Given the description of an element on the screen output the (x, y) to click on. 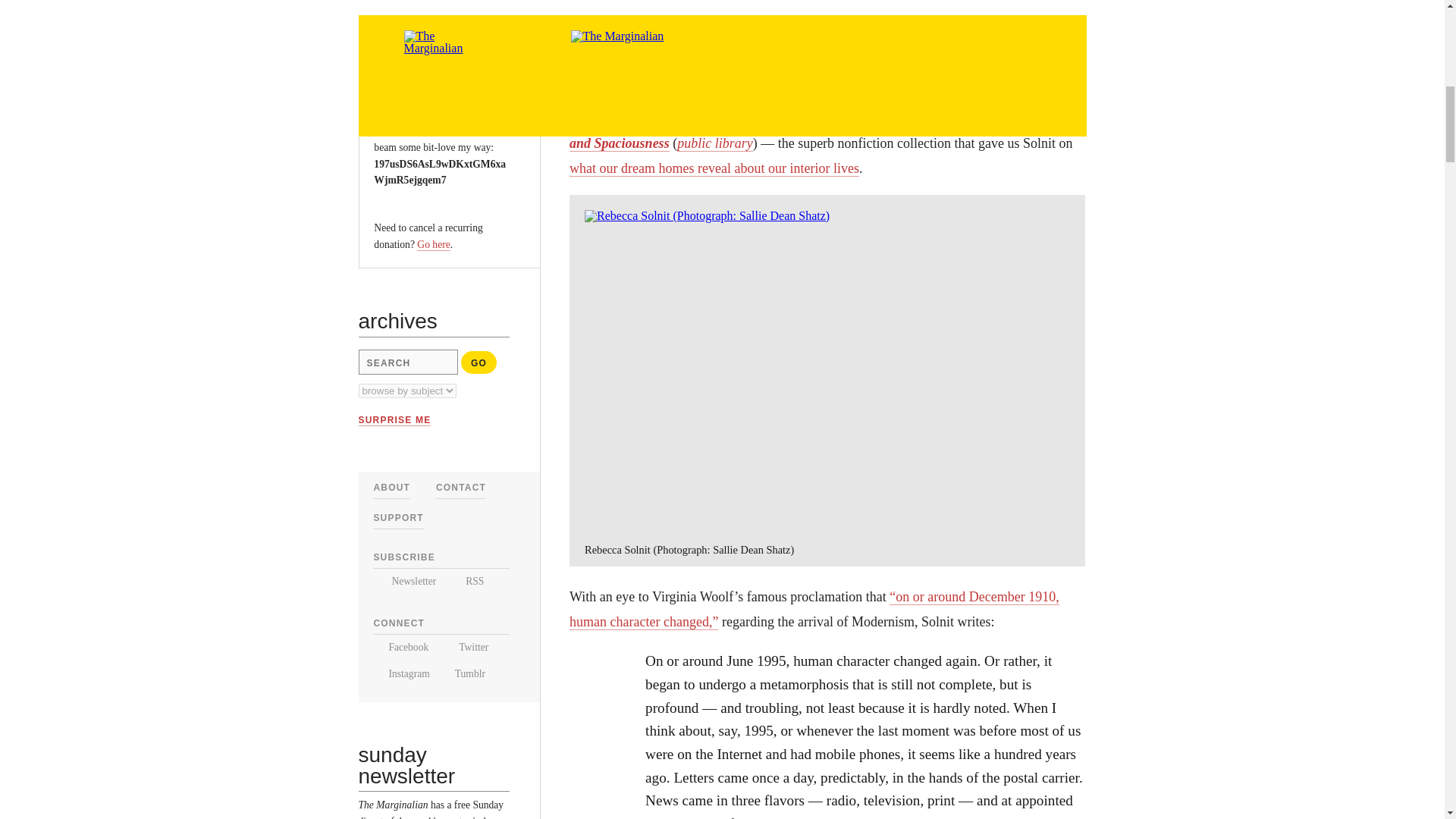
GIVE NOW (410, 53)
SURPRISE ME (394, 419)
Go (478, 362)
Tumblr (464, 673)
Newsletter (403, 581)
CONTACT (460, 487)
Instagram (400, 673)
Twitter (464, 646)
Go (478, 362)
RSS (466, 581)
Facebook (400, 646)
SUPPORT (397, 517)
ABOUT (391, 487)
Go here (432, 244)
